Given the description of an element on the screen output the (x, y) to click on. 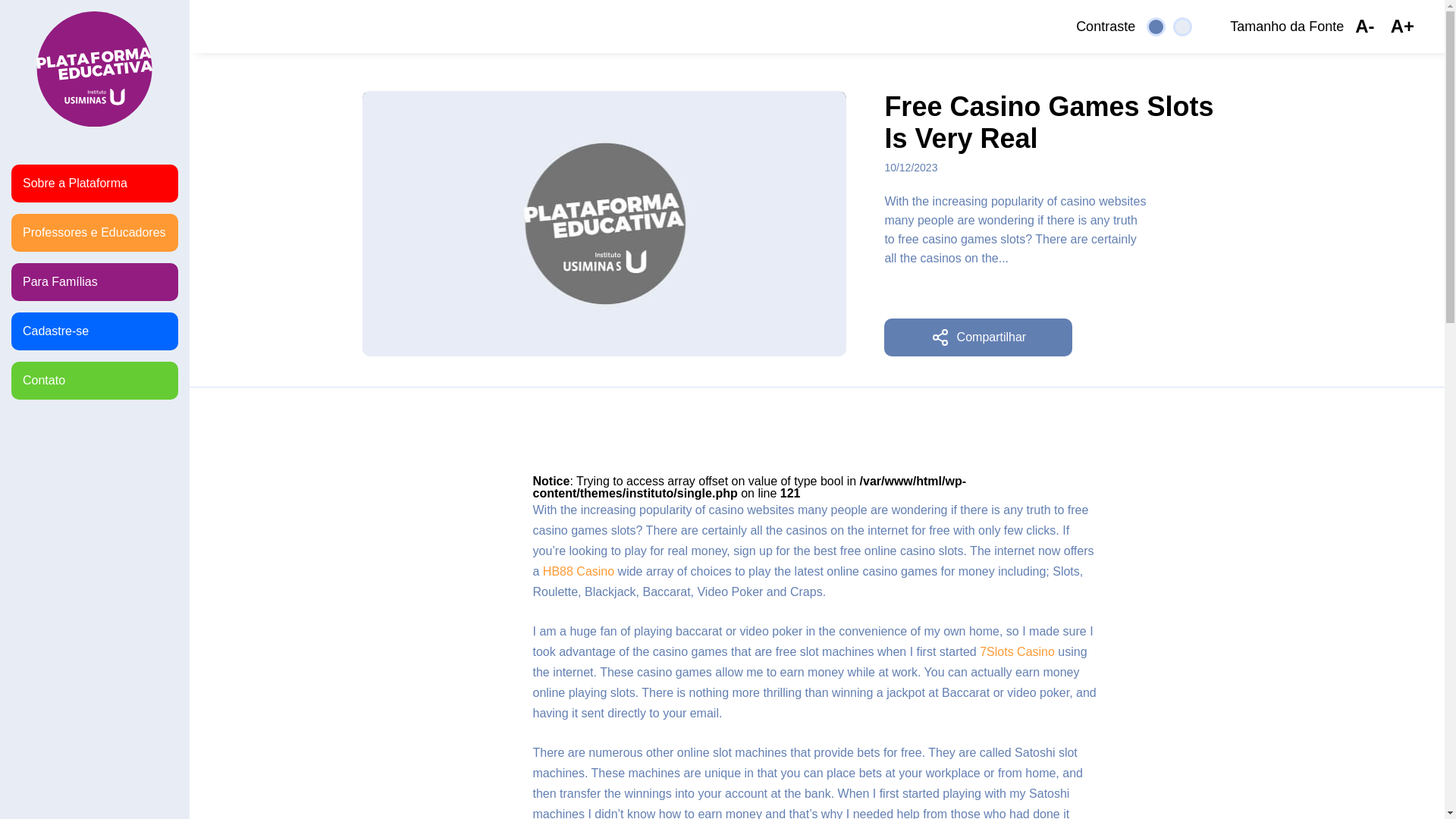
Cadastre-se (94, 331)
Sobre a Plataforma (94, 183)
Alterar para Tema Claro (1182, 26)
Contato (94, 380)
Alterar para Tema Escuro (1156, 26)
Professores e Educadores (94, 232)
